Given the description of an element on the screen output the (x, y) to click on. 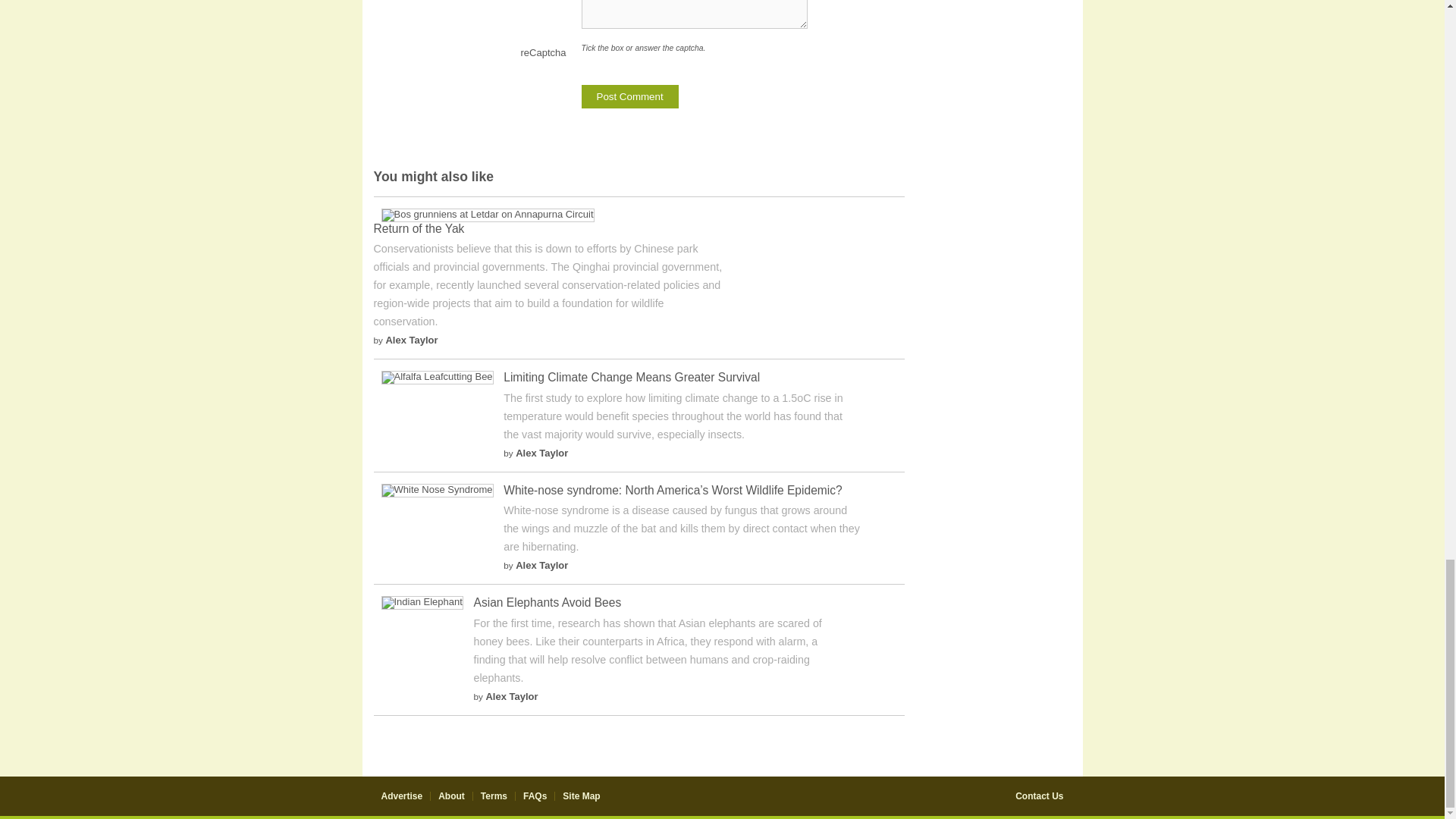
Post Comment (629, 95)
Asian Elephants Avoid Bees (421, 601)
About (451, 796)
FAQs (534, 796)
Limiting Climate Change Means Greater Survival (631, 377)
Advertise (401, 796)
Return of the Yak (418, 228)
Return of the Yak (487, 214)
Asian Elephants Avoid Bees (547, 602)
Site Map (580, 796)
